Given the description of an element on the screen output the (x, y) to click on. 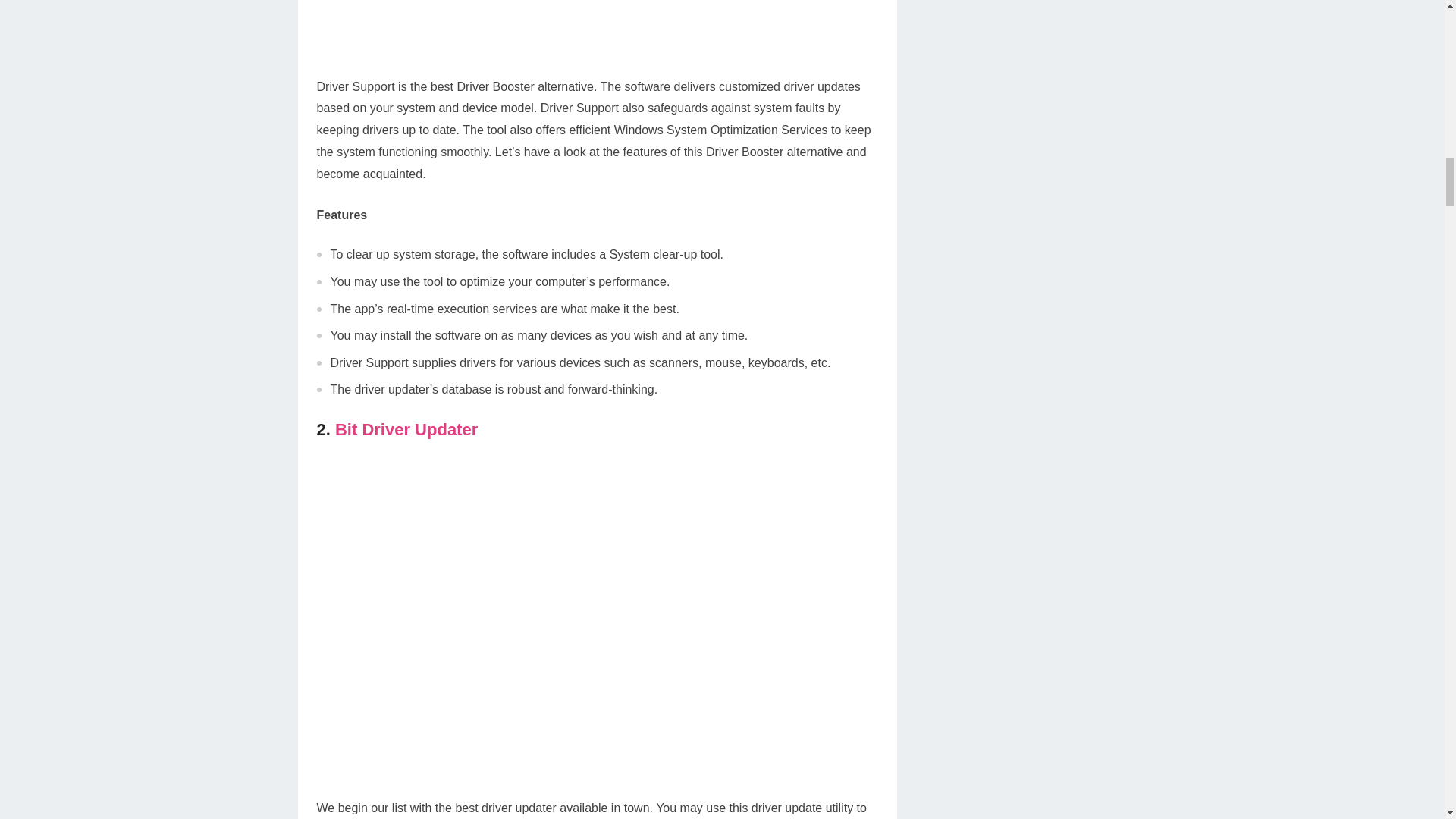
Bit Driver Updater (405, 429)
